Given the description of an element on the screen output the (x, y) to click on. 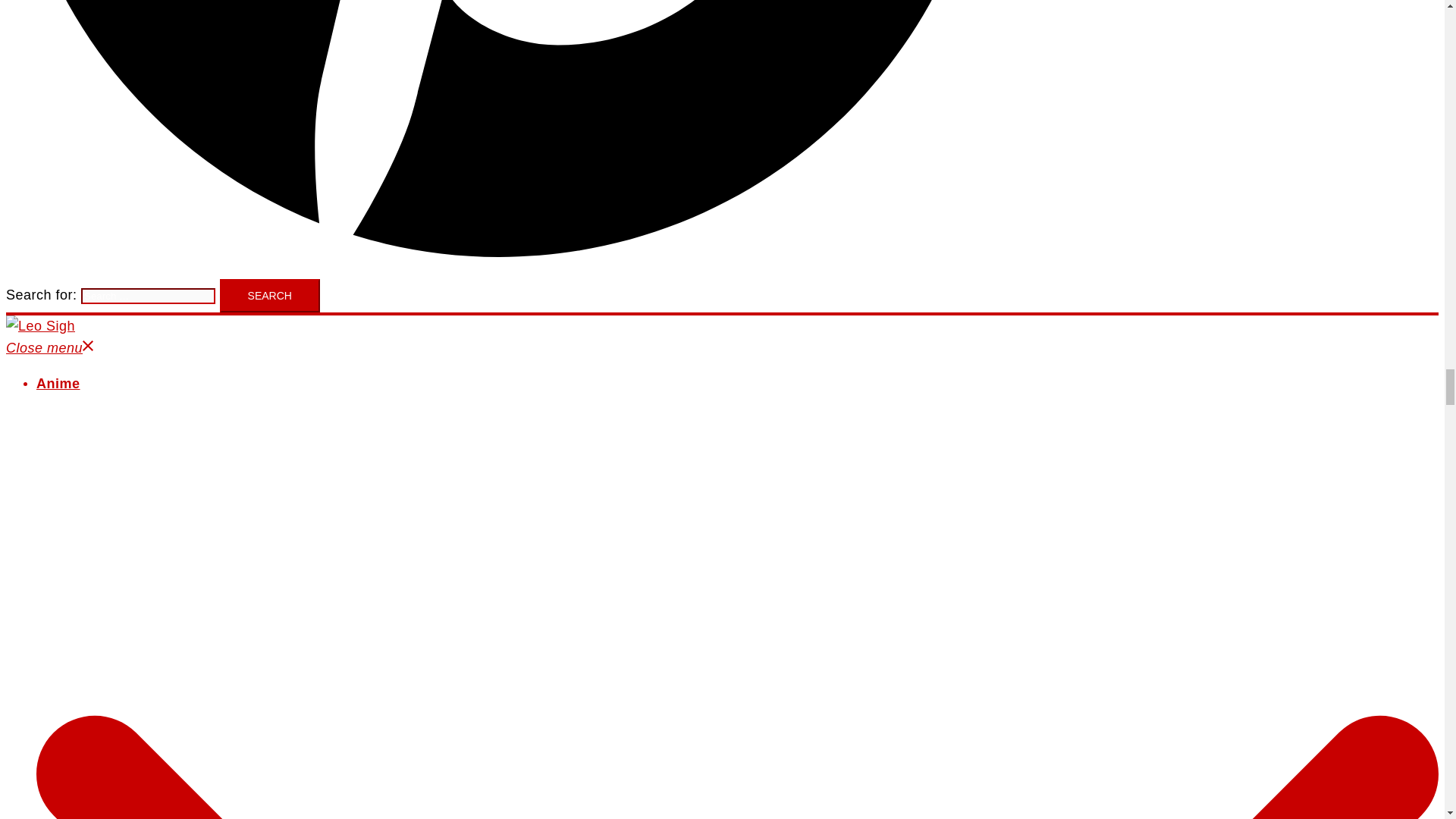
Search (269, 295)
Search (269, 295)
Leo Sigh (40, 325)
Anime (58, 383)
Search (269, 295)
Close menu (49, 347)
